Given the description of an element on the screen output the (x, y) to click on. 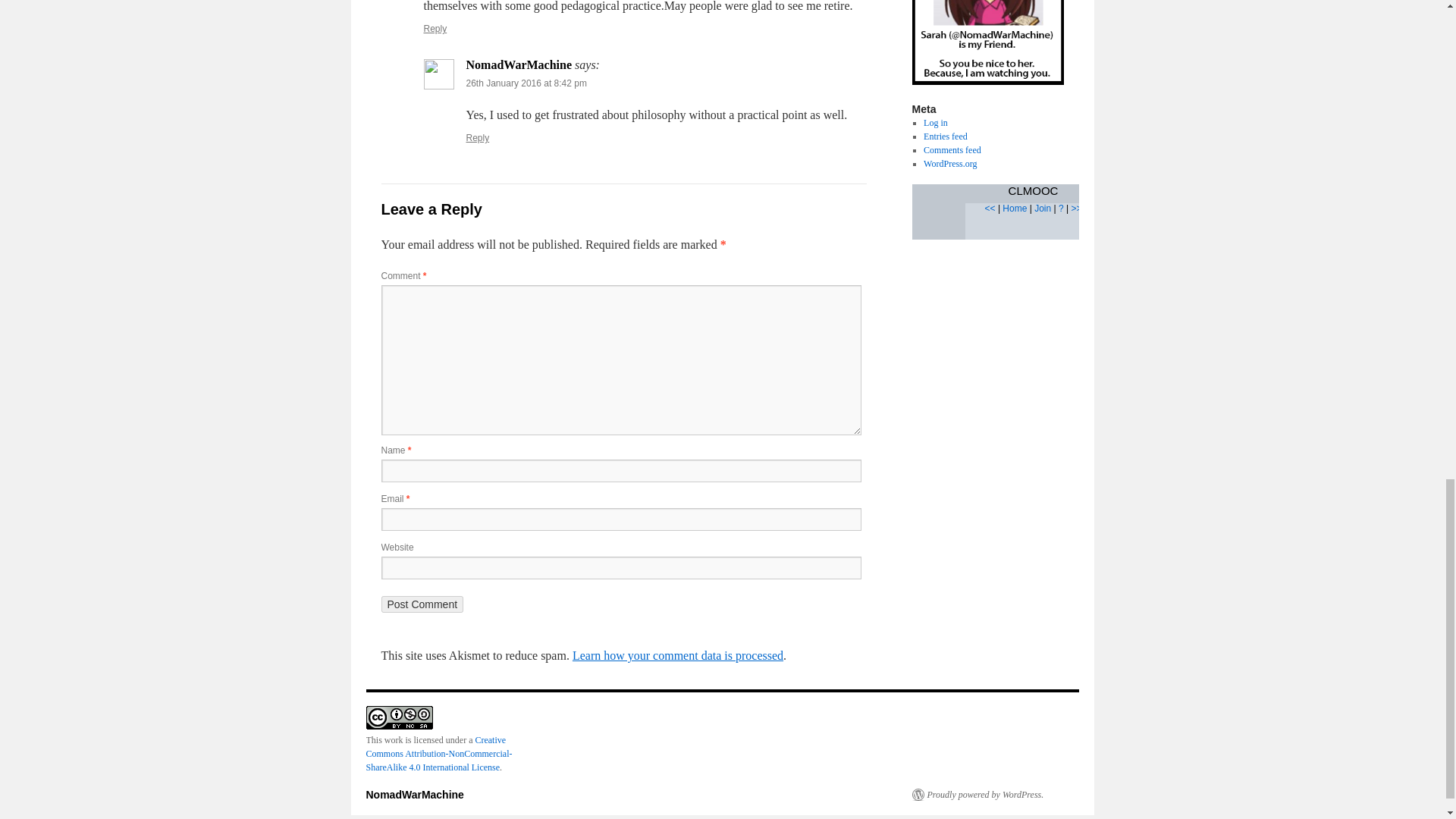
Semantic Personal Publishing Platform (977, 794)
26th January 2016 at 8:42 pm (525, 82)
Post Comment (421, 604)
Next (1075, 208)
Reply (434, 28)
Previous (990, 208)
CLMOOCs (1014, 208)
Reply (477, 137)
